Given the description of an element on the screen output the (x, y) to click on. 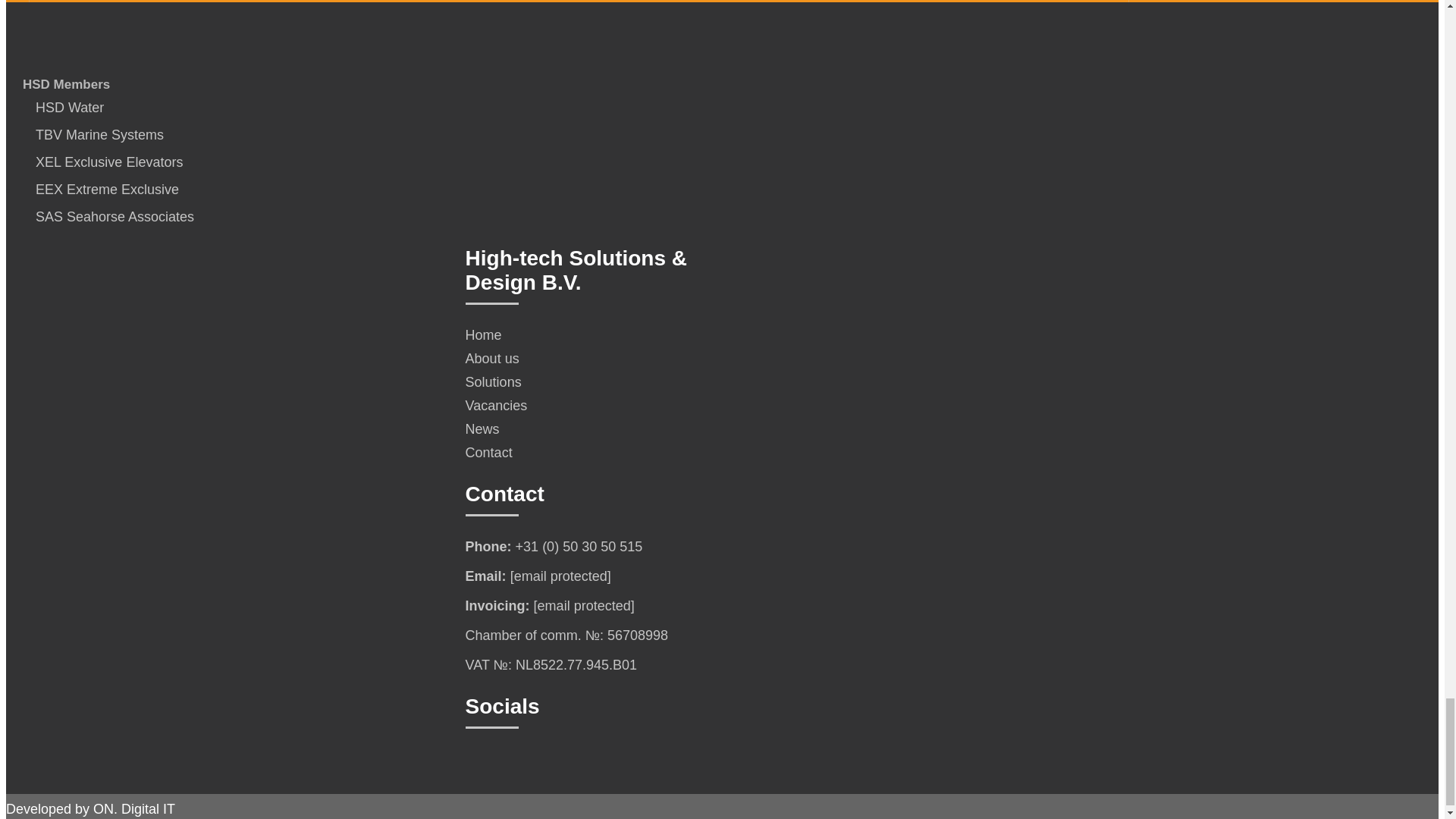
ON. Digital IT (133, 808)
Home (579, 335)
News (579, 429)
EEX Extreme Exclusive (101, 189)
About us (579, 358)
HSD Water (63, 107)
Vacancies (579, 406)
SAS Seahorse Associates (108, 216)
TBV Marine Systems (93, 134)
Solutions (579, 382)
Contact (579, 453)
XEL Exclusive Elevators (103, 161)
